Given the description of an element on the screen output the (x, y) to click on. 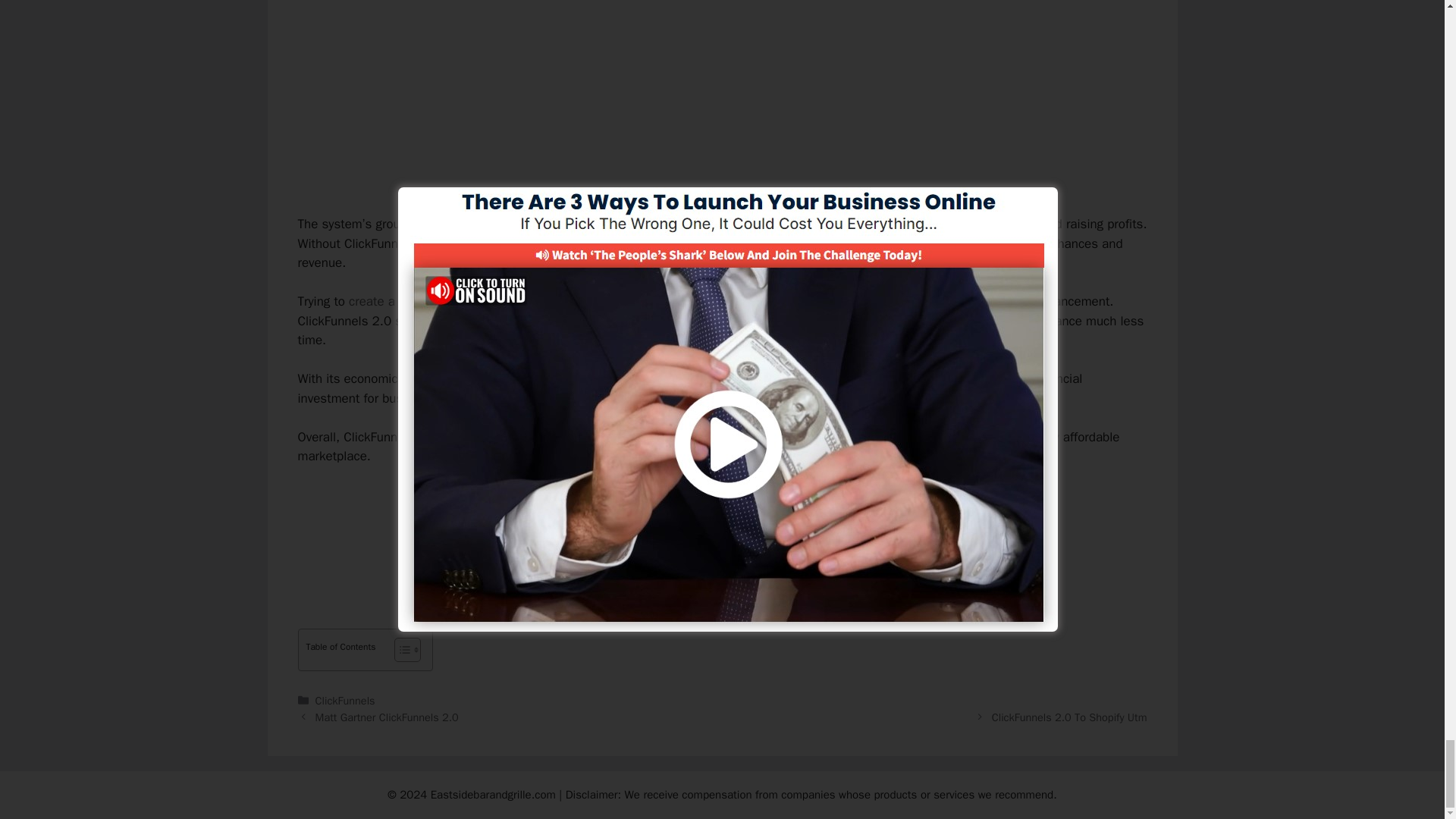
Grab Your ClickFunnels 2.0 Free Trial Here (722, 508)
online store (592, 223)
funnels (871, 437)
create a sales funnel from scratch (445, 301)
